Given the description of an element on the screen output the (x, y) to click on. 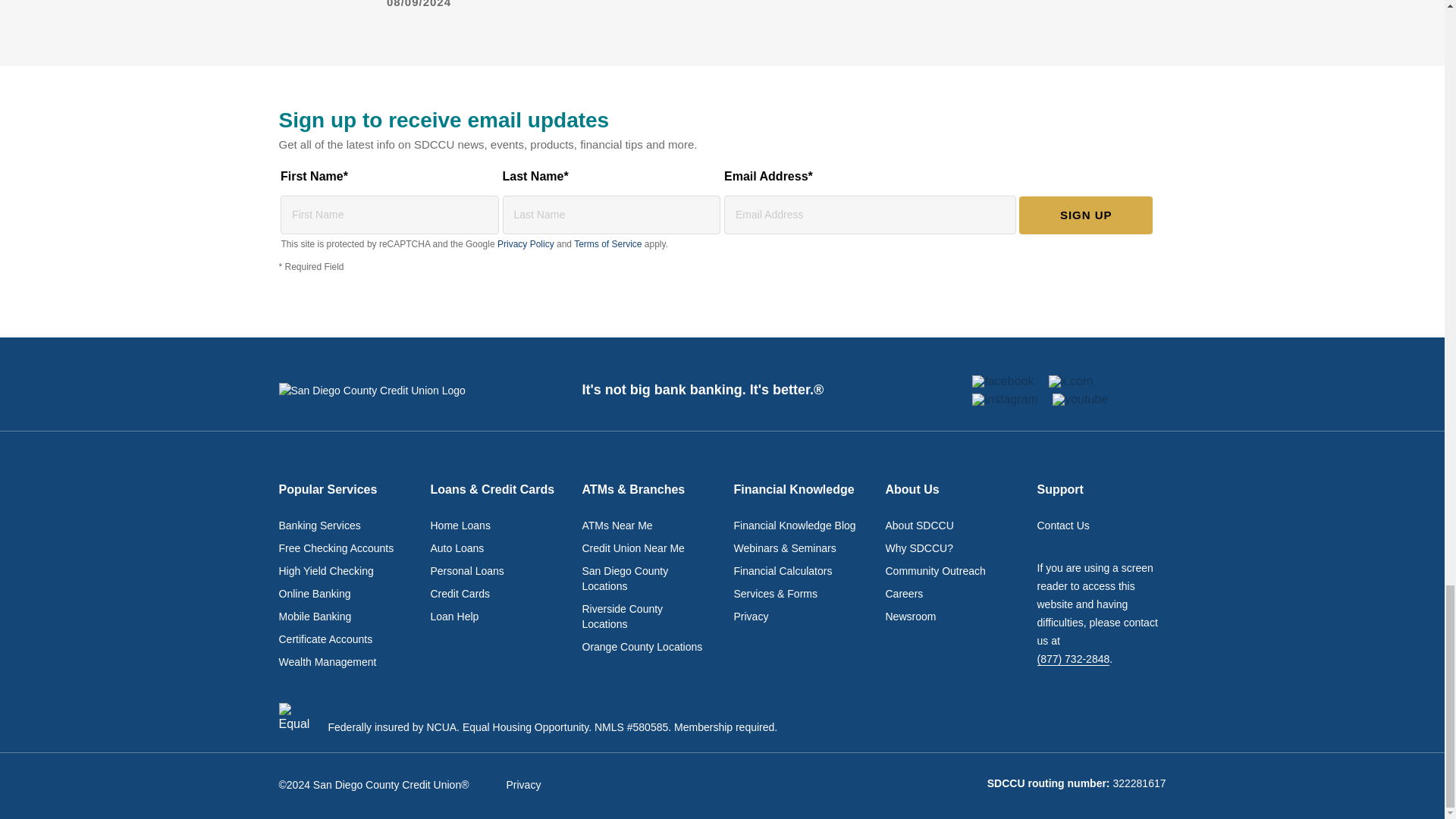
Phone Number (1072, 658)
Go to San Diego Credit Union homepage (391, 389)
Sign Up (1086, 215)
